Given the description of an element on the screen output the (x, y) to click on. 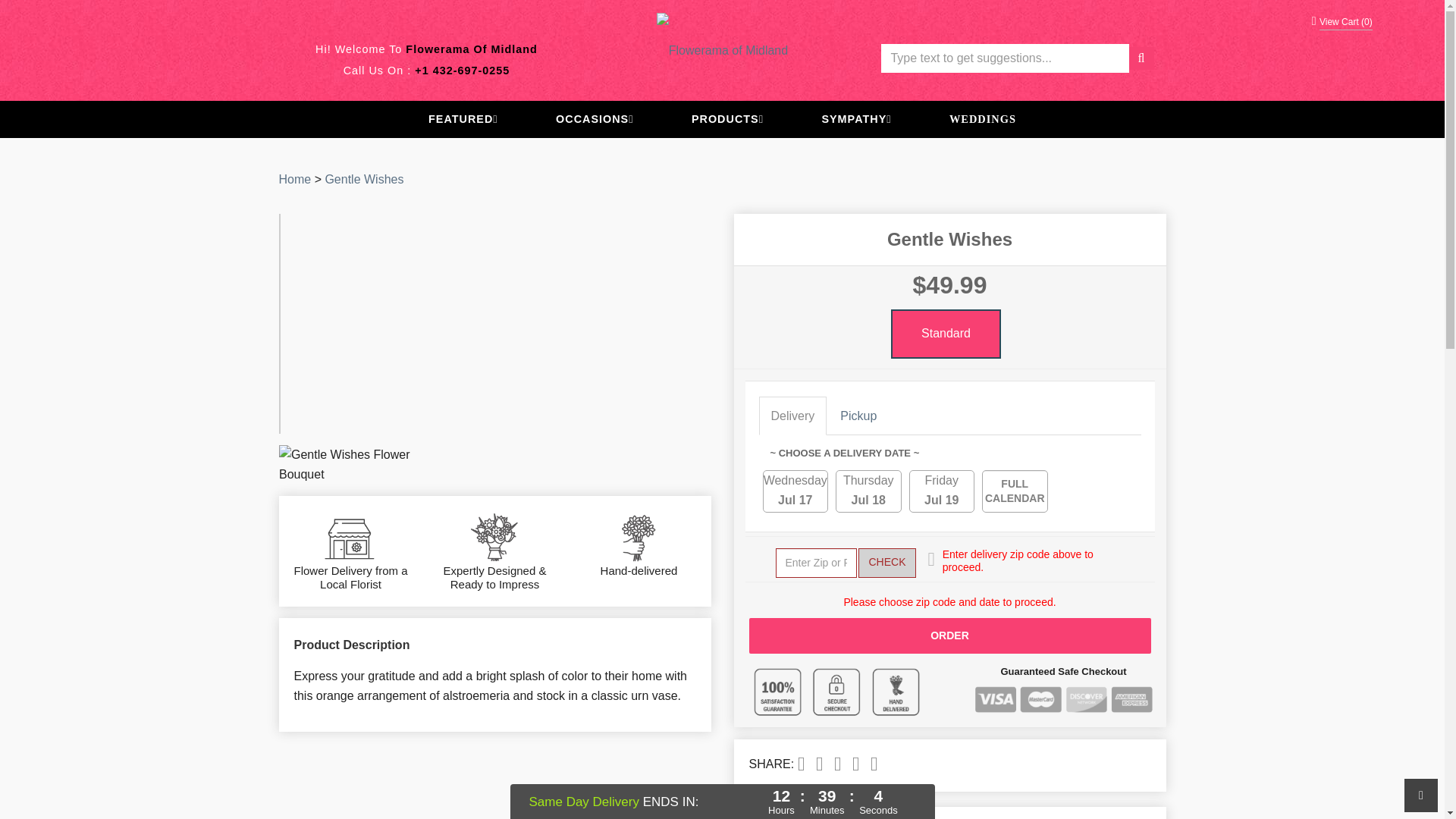
Gentle Wishes Flower Arrangement (348, 464)
Gentle (363, 178)
Home (295, 178)
FEATURED (462, 119)
OCCASIONS (594, 119)
